Given the description of an element on the screen output the (x, y) to click on. 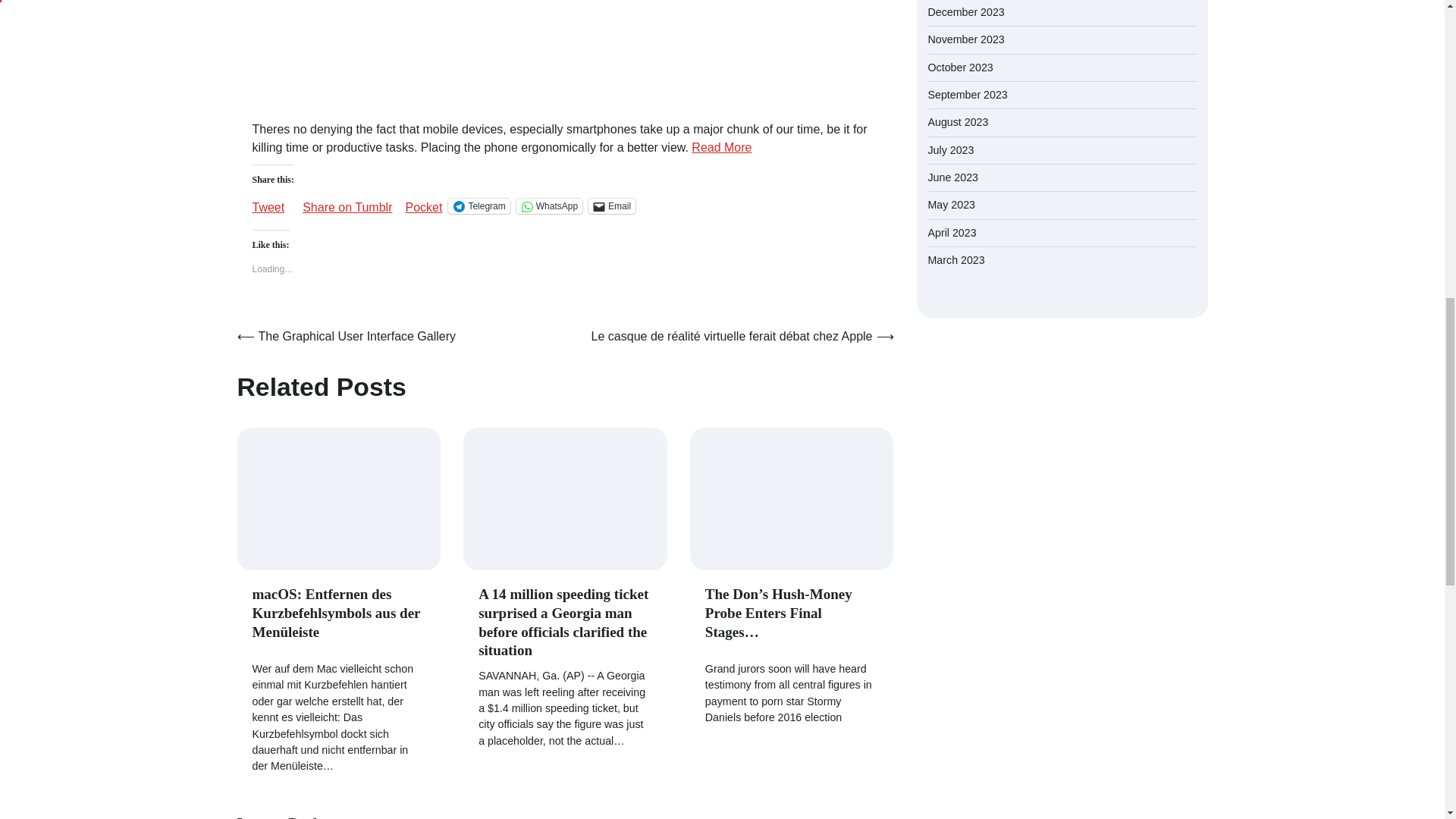
Telegram (478, 206)
Tweet (267, 201)
The Don (791, 498)
Share on Tumblr (346, 201)
Click to share on WhatsApp (549, 206)
Share on Tumblr (346, 201)
Click to email a link to a friend (611, 206)
Email (611, 206)
Read More (721, 146)
Pocket (423, 206)
Click to share on Telegram (478, 206)
Read More (721, 146)
